Given the description of an element on the screen output the (x, y) to click on. 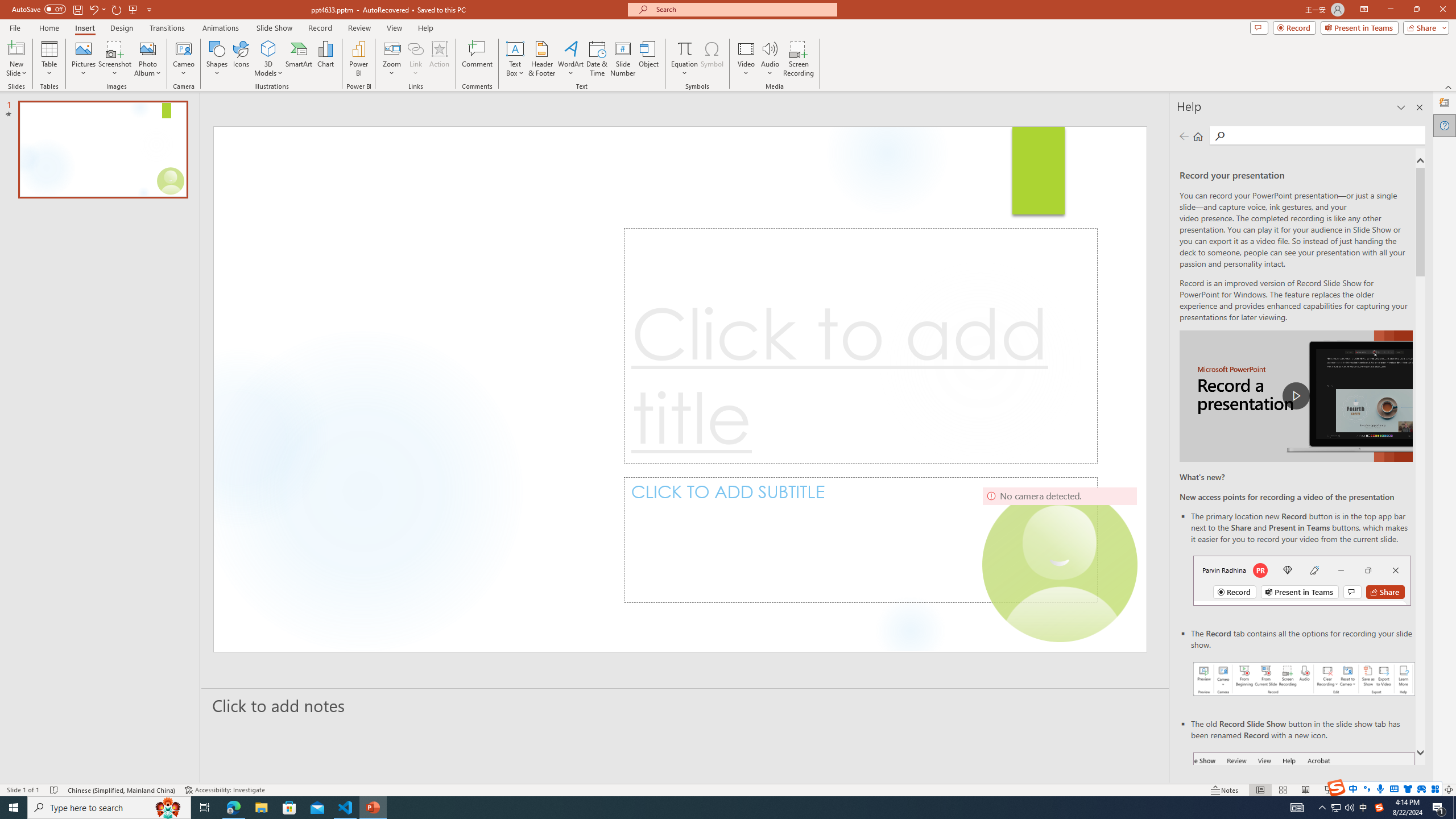
Video (745, 58)
Comment (476, 58)
Power BI (358, 58)
Shapes (216, 58)
Record button in top bar (1301, 580)
